Given the description of an element on the screen output the (x, y) to click on. 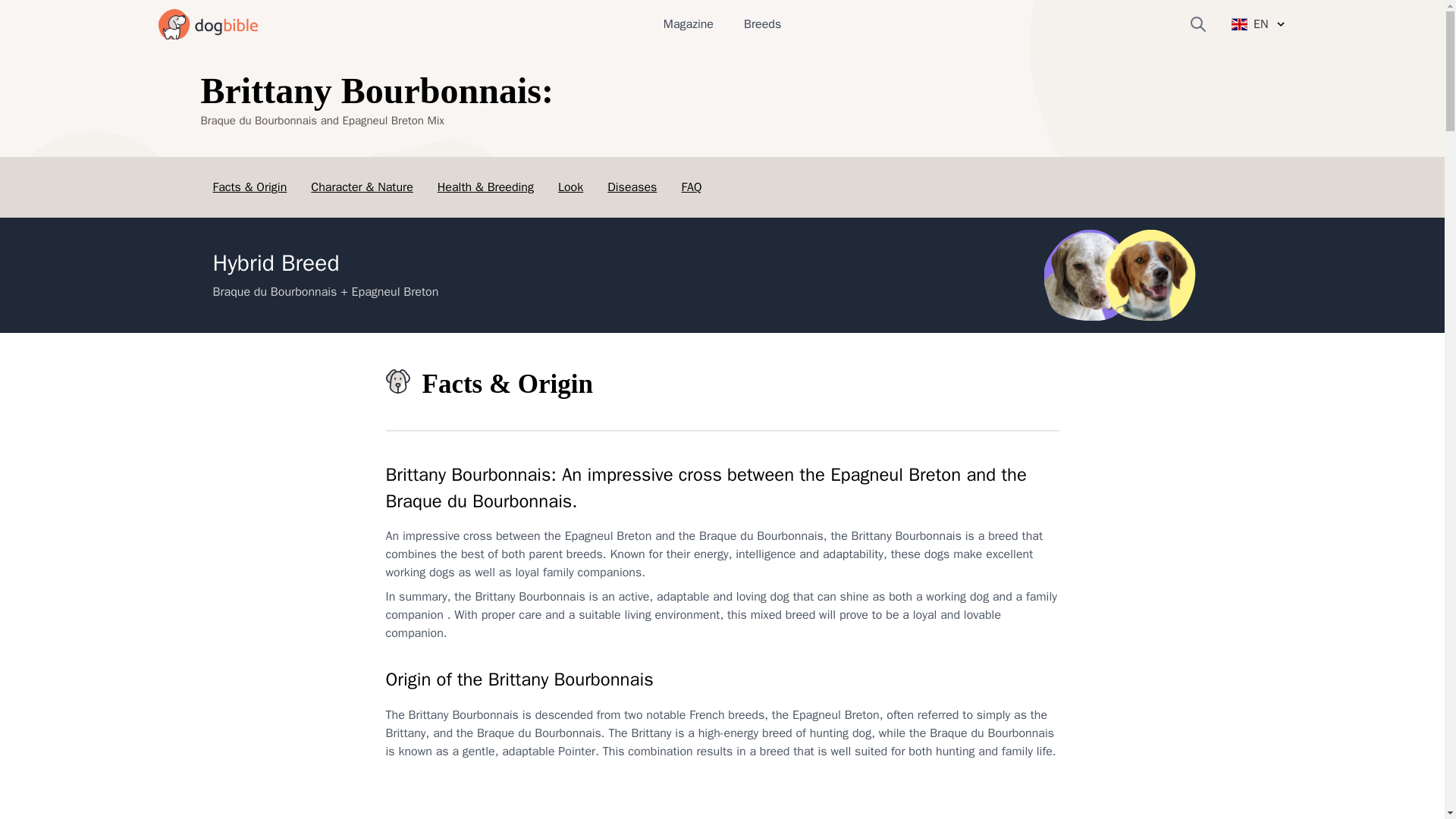
Bretan Spaniel Breed Description (1149, 275)
Diseases (631, 186)
FAQ (691, 186)
FAQ (691, 186)
Breeds (762, 23)
Look (570, 186)
dogbible - a platform for people who love dogs (207, 24)
Look (570, 186)
braque du bourbonnais Breed description (1088, 275)
Diseases (631, 186)
EN (1259, 24)
Magazine (688, 23)
dogbible (207, 24)
